Given the description of an element on the screen output the (x, y) to click on. 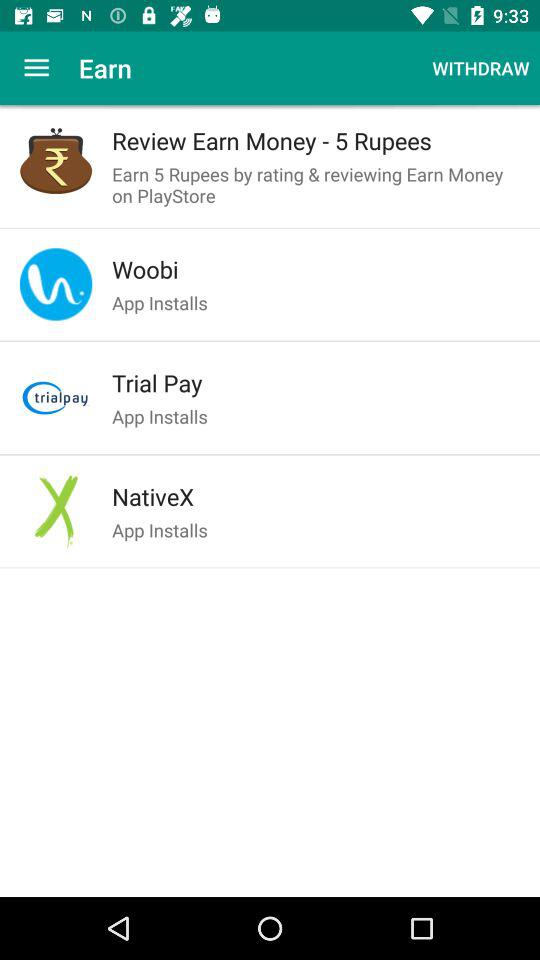
flip to woobi icon (316, 269)
